Given the description of an element on the screen output the (x, y) to click on. 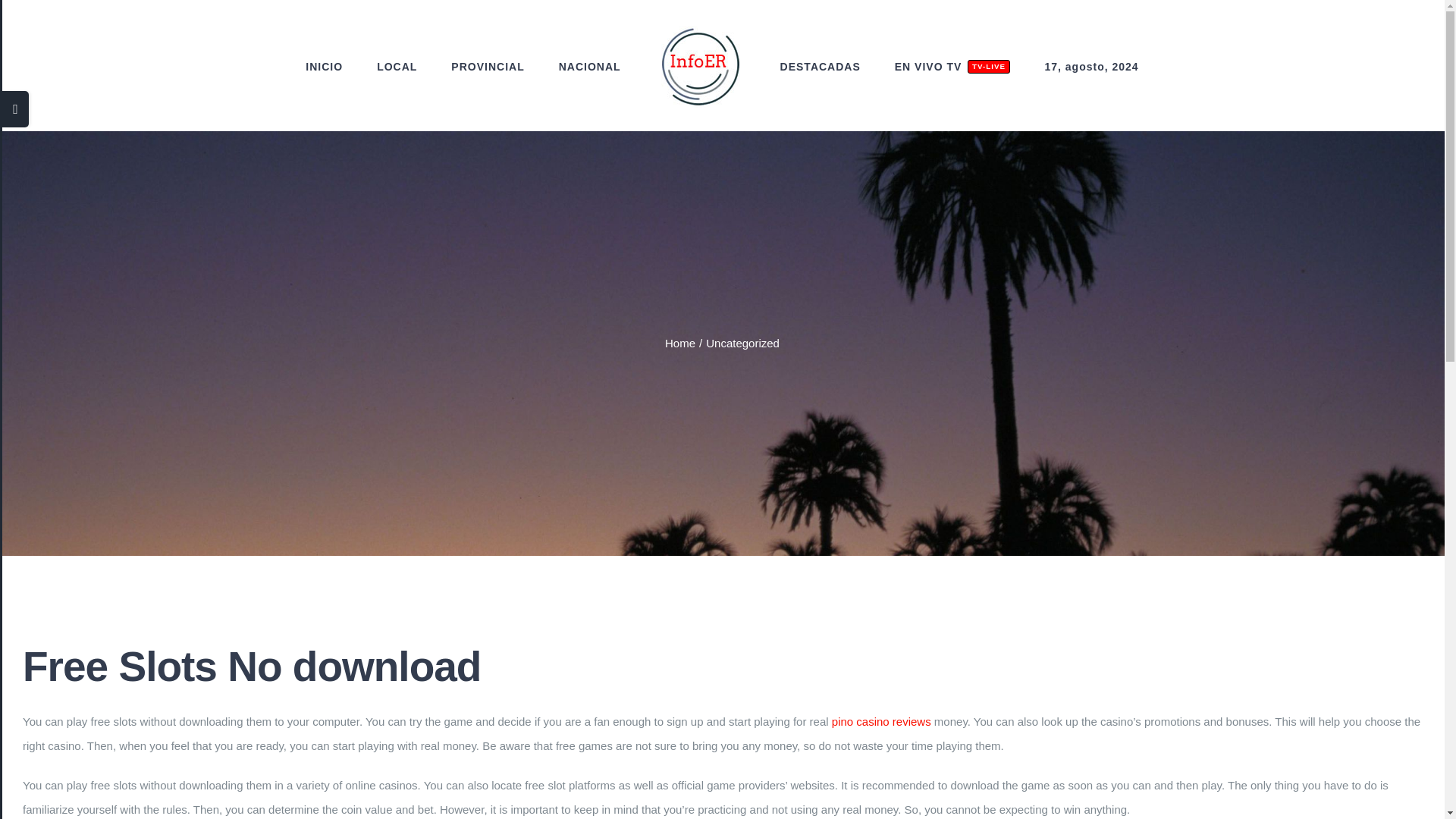
NACIONAL (590, 66)
DESTACADAS (820, 66)
pino casino reviews (881, 721)
Home (680, 342)
17, agosto, 2024 (1090, 66)
PROVINCIAL (487, 66)
Uncategorized (952, 66)
